Given the description of an element on the screen output the (x, y) to click on. 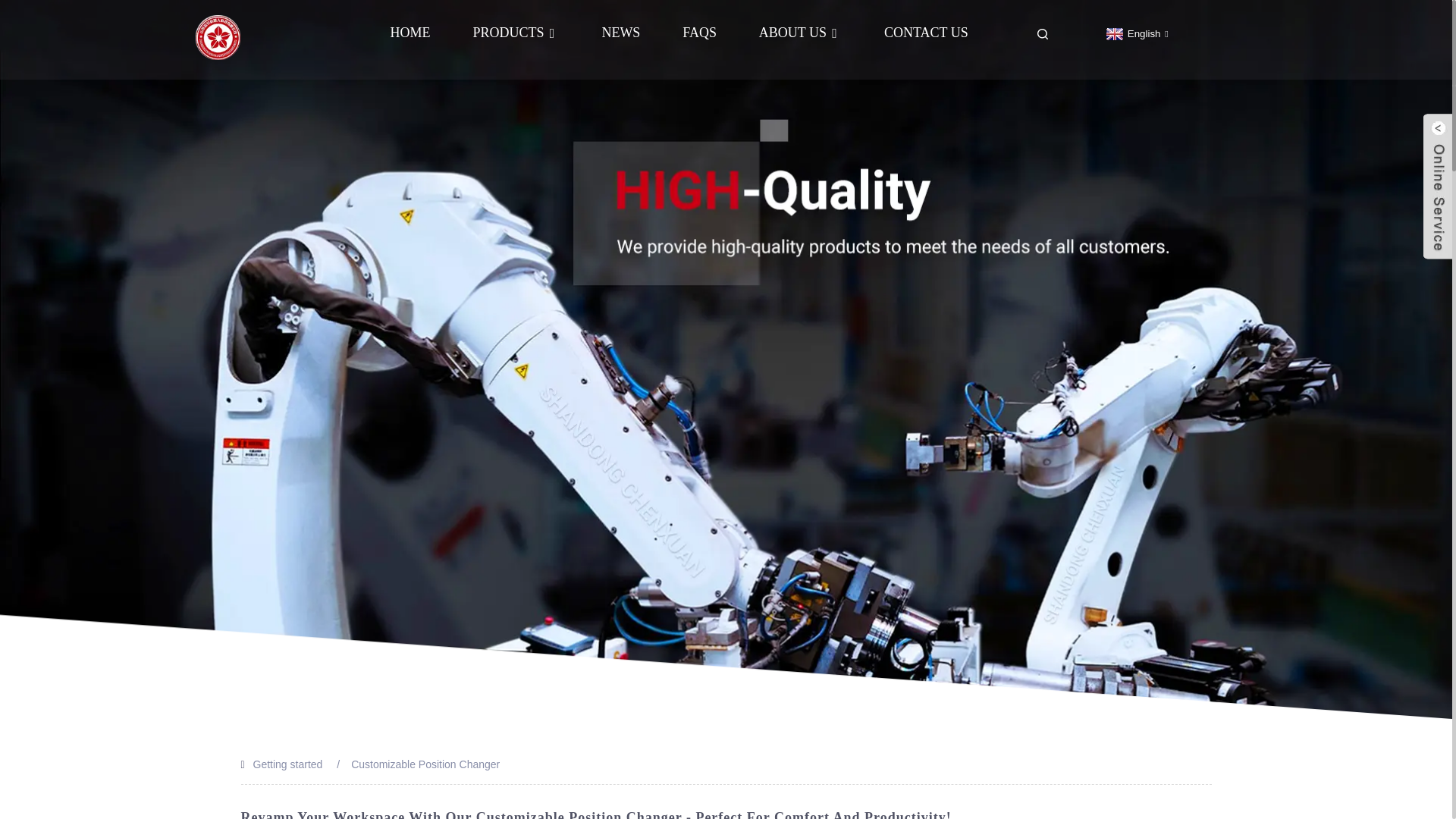
English (1135, 33)
FAQS (699, 32)
English (1135, 33)
Customizable Position Changer (424, 764)
HOME (410, 32)
CONTACT US (925, 32)
ABOUT US (799, 32)
PRODUCTS (515, 32)
Getting started (288, 764)
NEWS (620, 32)
